Given the description of an element on the screen output the (x, y) to click on. 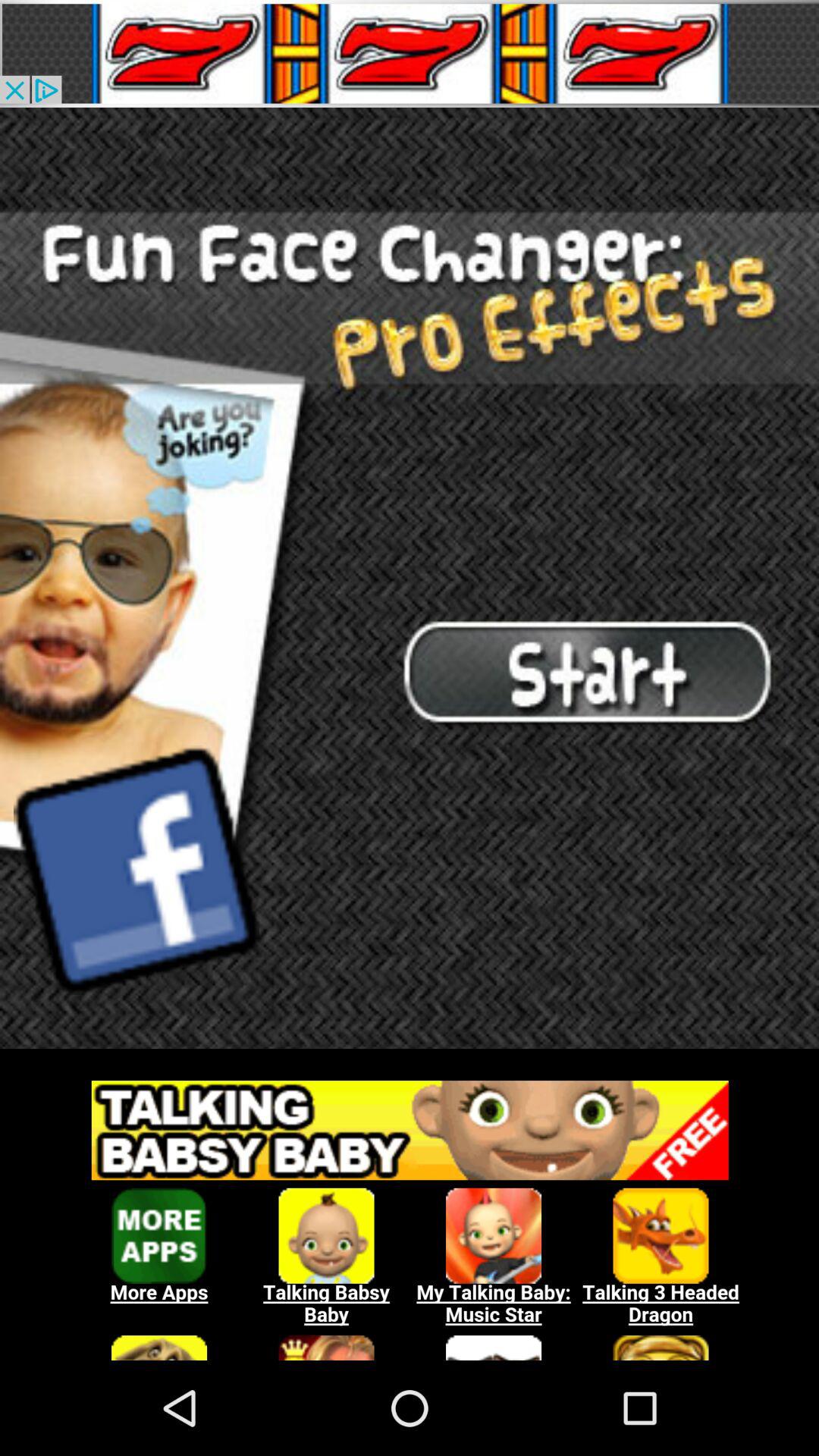
advertisement (409, 53)
